Given the description of an element on the screen output the (x, y) to click on. 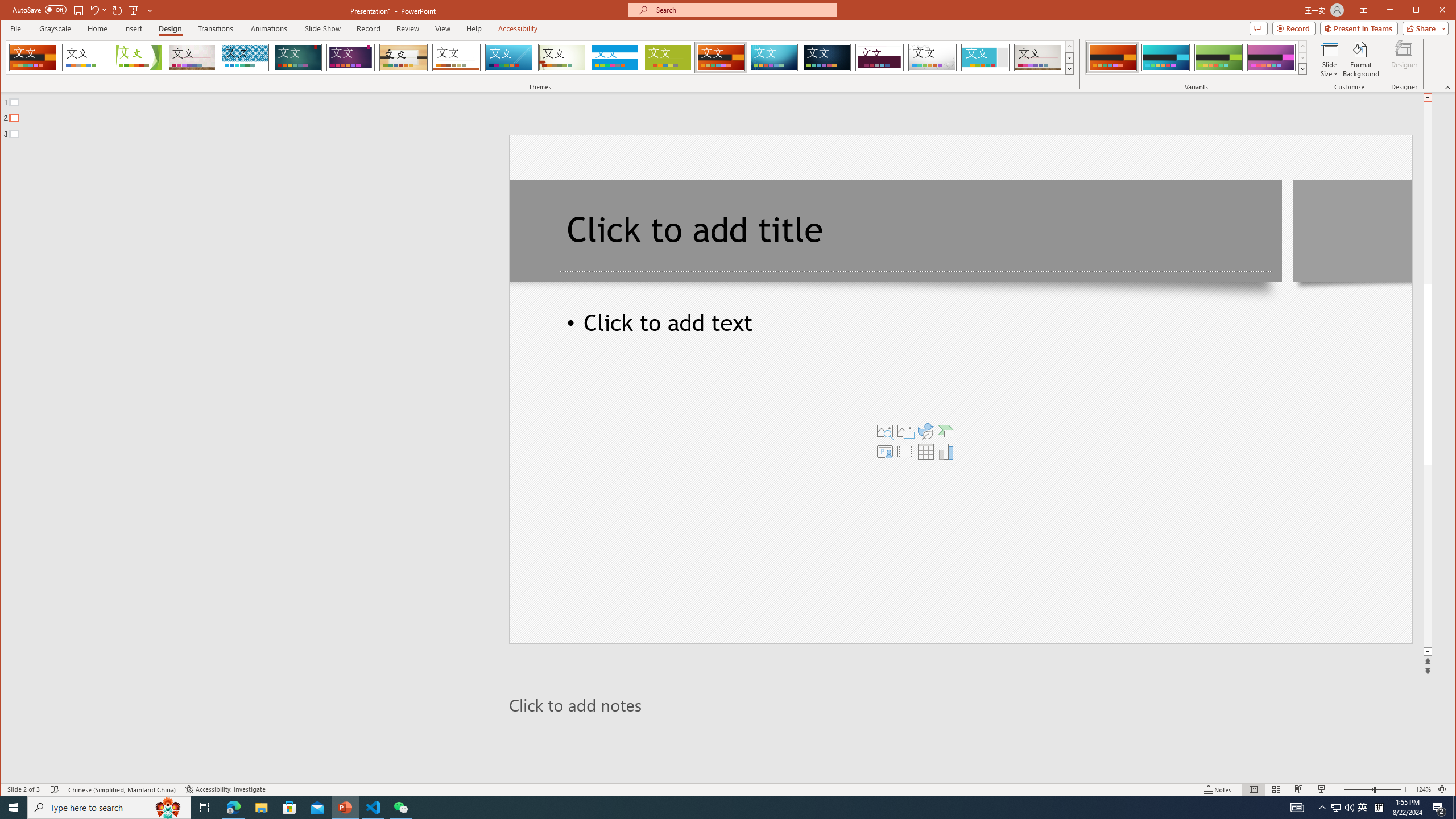
Berlin Variant 1 (1112, 57)
Circuit (773, 57)
Slice (509, 57)
